Given the description of an element on the screen output the (x, y) to click on. 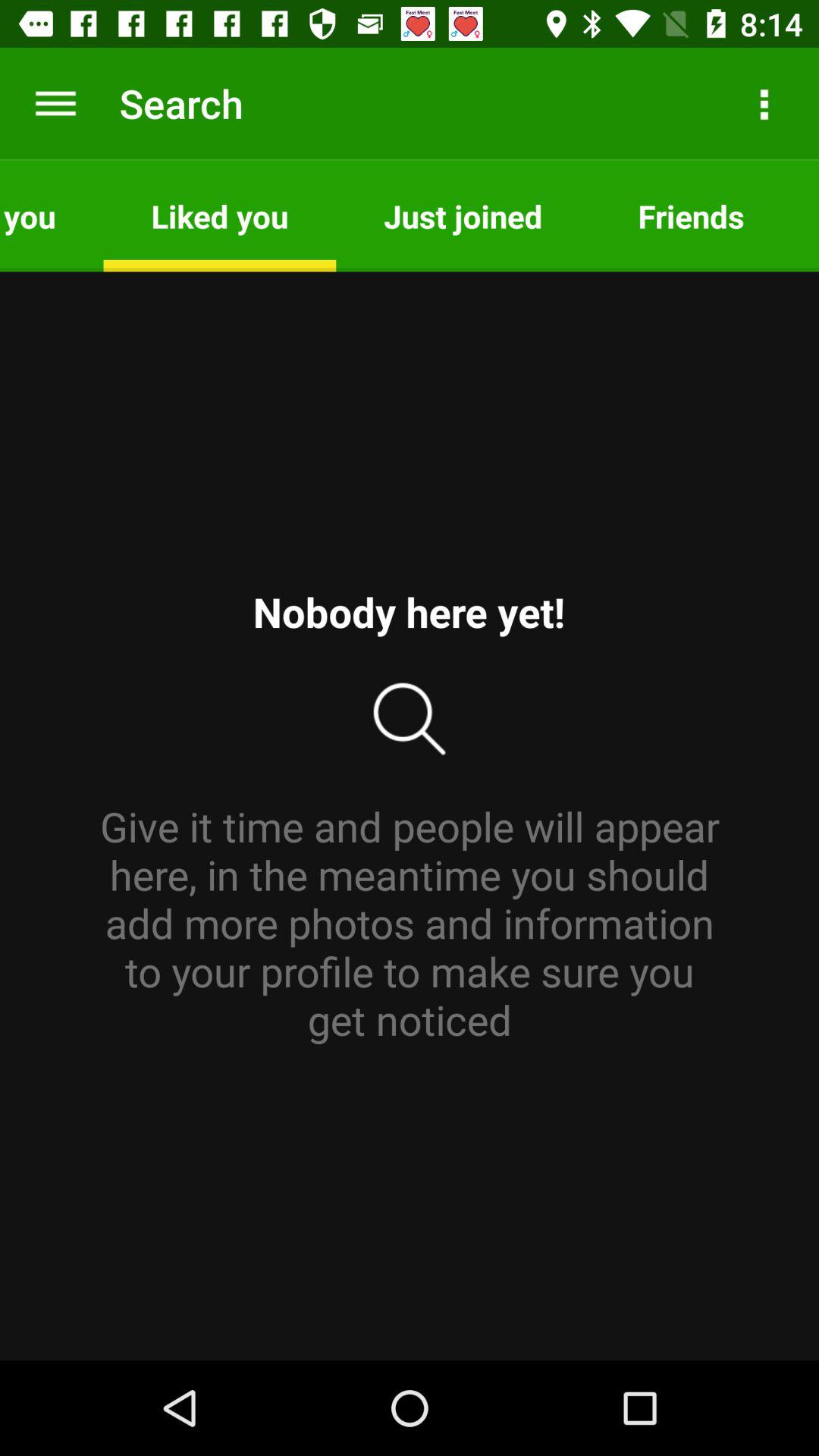
select the item above give it time app (51, 215)
